Given the description of an element on the screen output the (x, y) to click on. 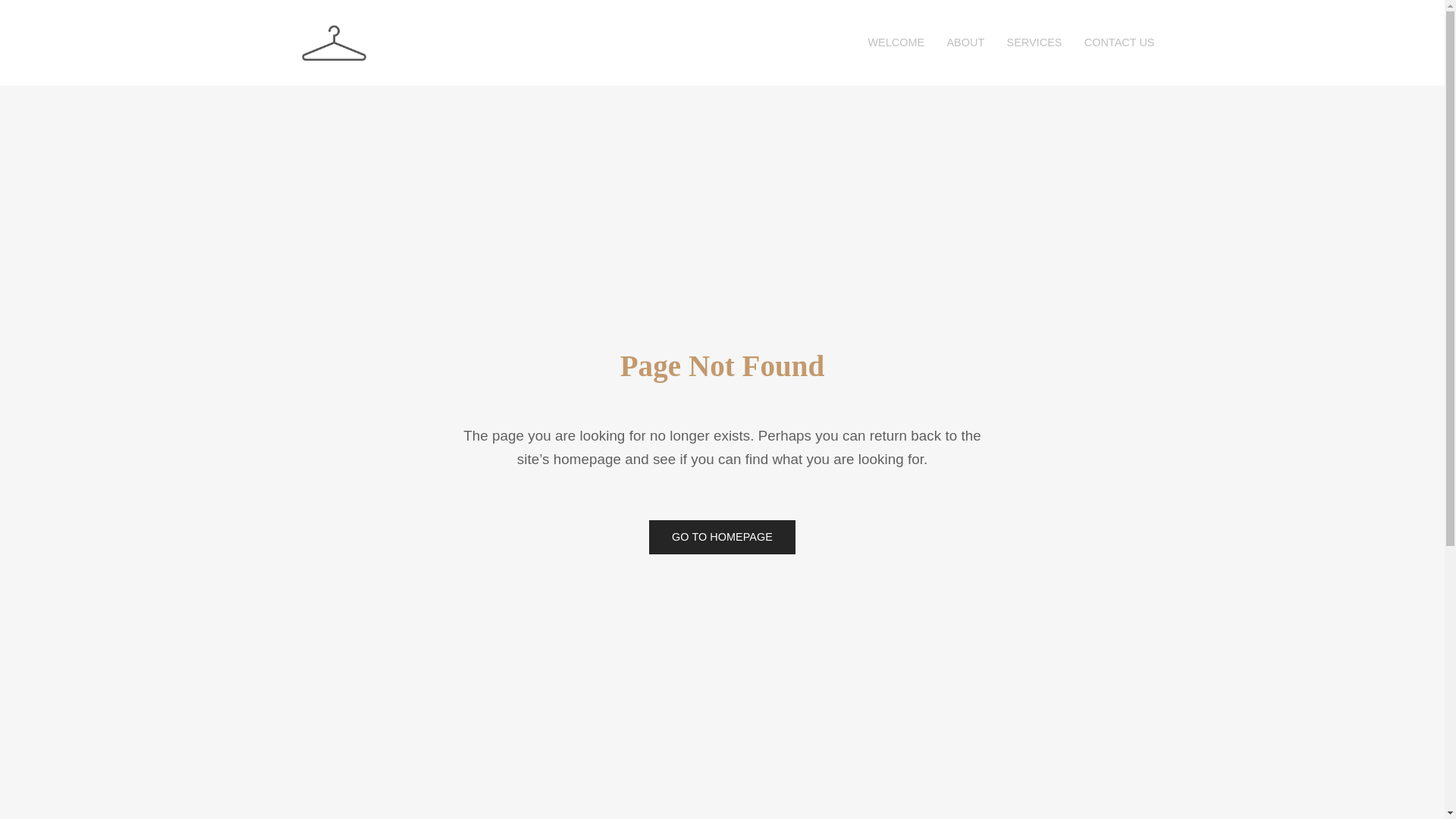
ABOUT (965, 42)
GO TO HOMEPAGE (721, 537)
SERVICES (1034, 42)
WELCOME (896, 42)
CONTACT US (1113, 42)
